Given the description of an element on the screen output the (x, y) to click on. 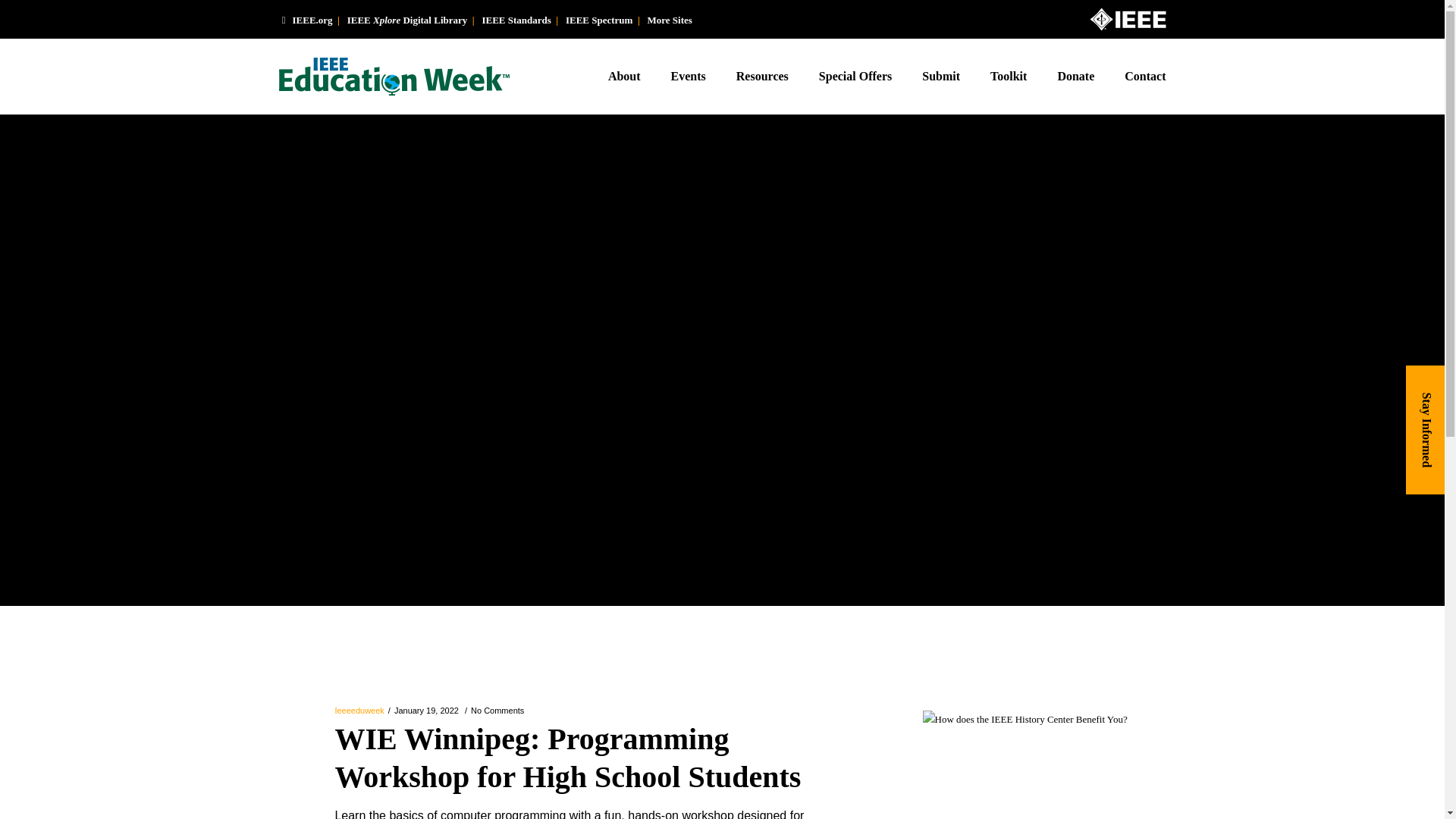
Resources (761, 76)
Donate (1075, 76)
IEEE Spectrum (598, 19)
More Sites (670, 19)
Ieeeeduweek (359, 709)
IEEE Standards (515, 19)
IEEE.org (306, 19)
Submit (941, 76)
IEEE Xplore Digital Library (407, 19)
WIE Winnipeg: Programming Workshop for High School Students (571, 766)
